Given the description of an element on the screen output the (x, y) to click on. 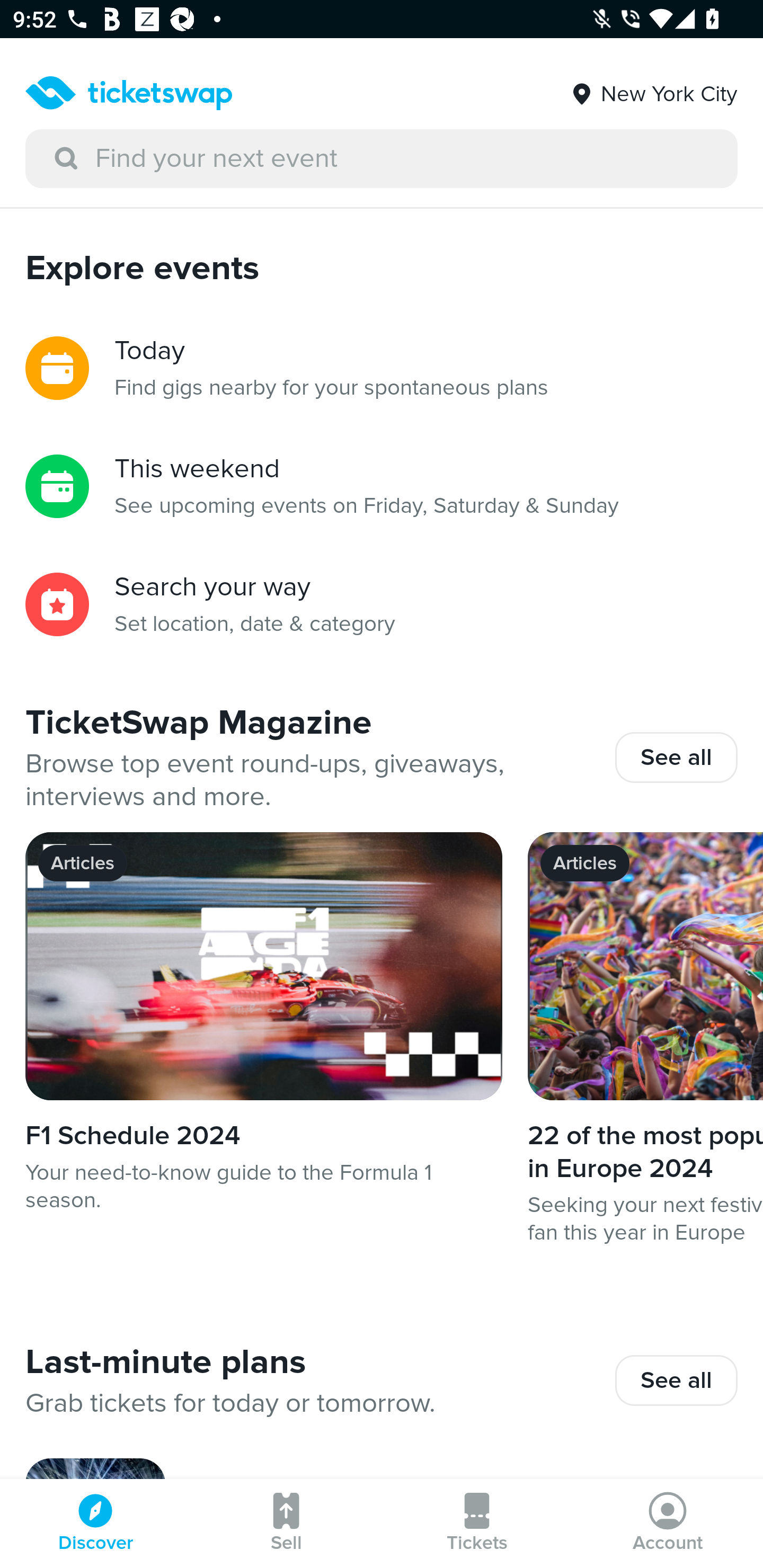
New York City (653, 87)
Find your next event (381, 158)
Today Find gigs nearby for your spontaneous plans (381, 367)
Search your way Set location, date & category (381, 604)
See all (675, 756)
See all (675, 1380)
Sell (285, 1523)
Tickets (476, 1523)
Account (667, 1523)
